Given the description of an element on the screen output the (x, y) to click on. 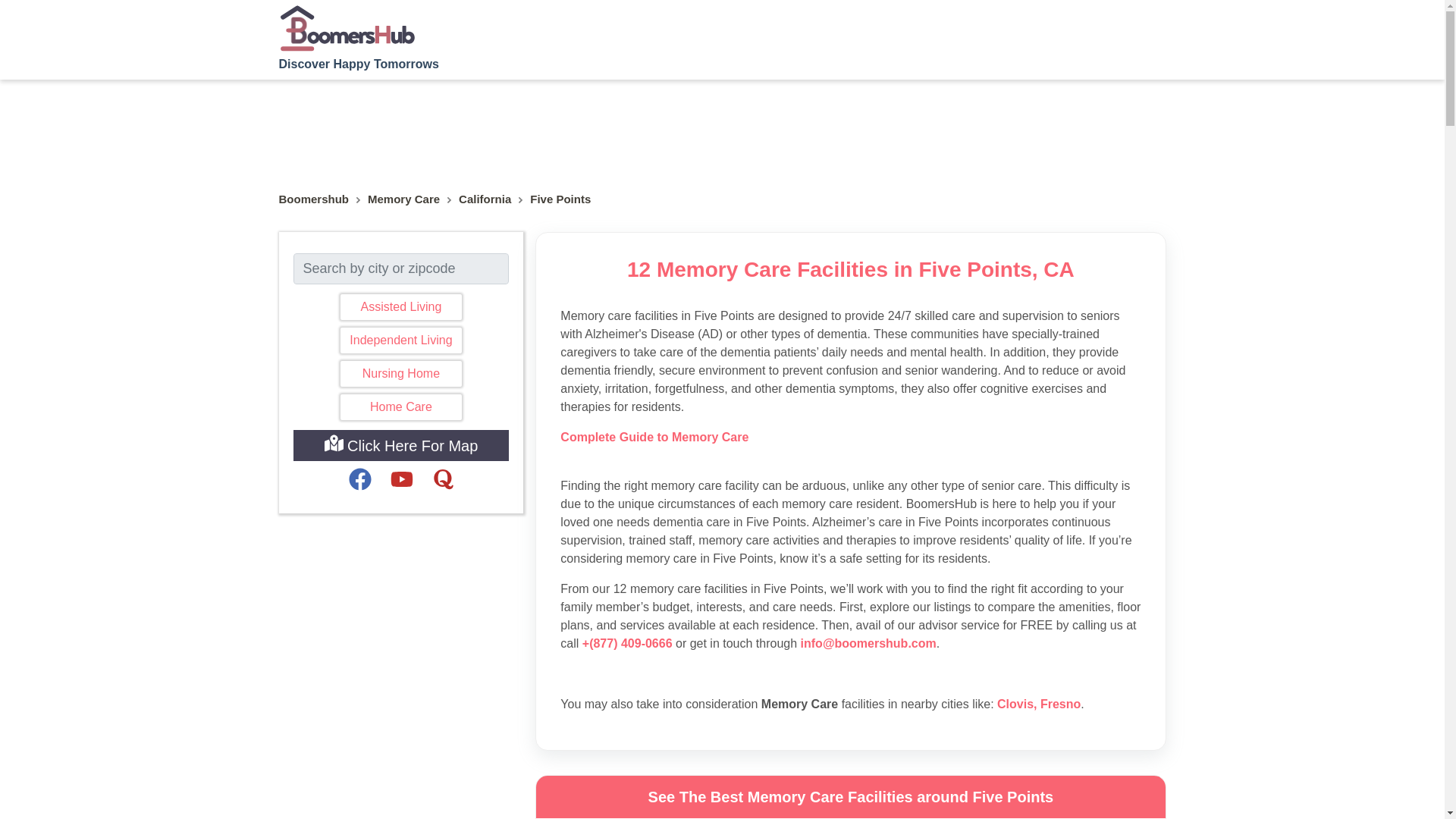
Discover Happy Tomorrows (359, 36)
Assisted Living (400, 307)
Independent Living (400, 339)
Memory Care (403, 199)
Home Care (400, 406)
Assisted Living in Five-points, CA (400, 307)
Memory Care facilities in Five Points, CA (560, 198)
Nursing Home (400, 373)
Independent Living in Five-points, CA (400, 339)
Nursing Home in Five-points, CA (400, 373)
